Given the description of an element on the screen output the (x, y) to click on. 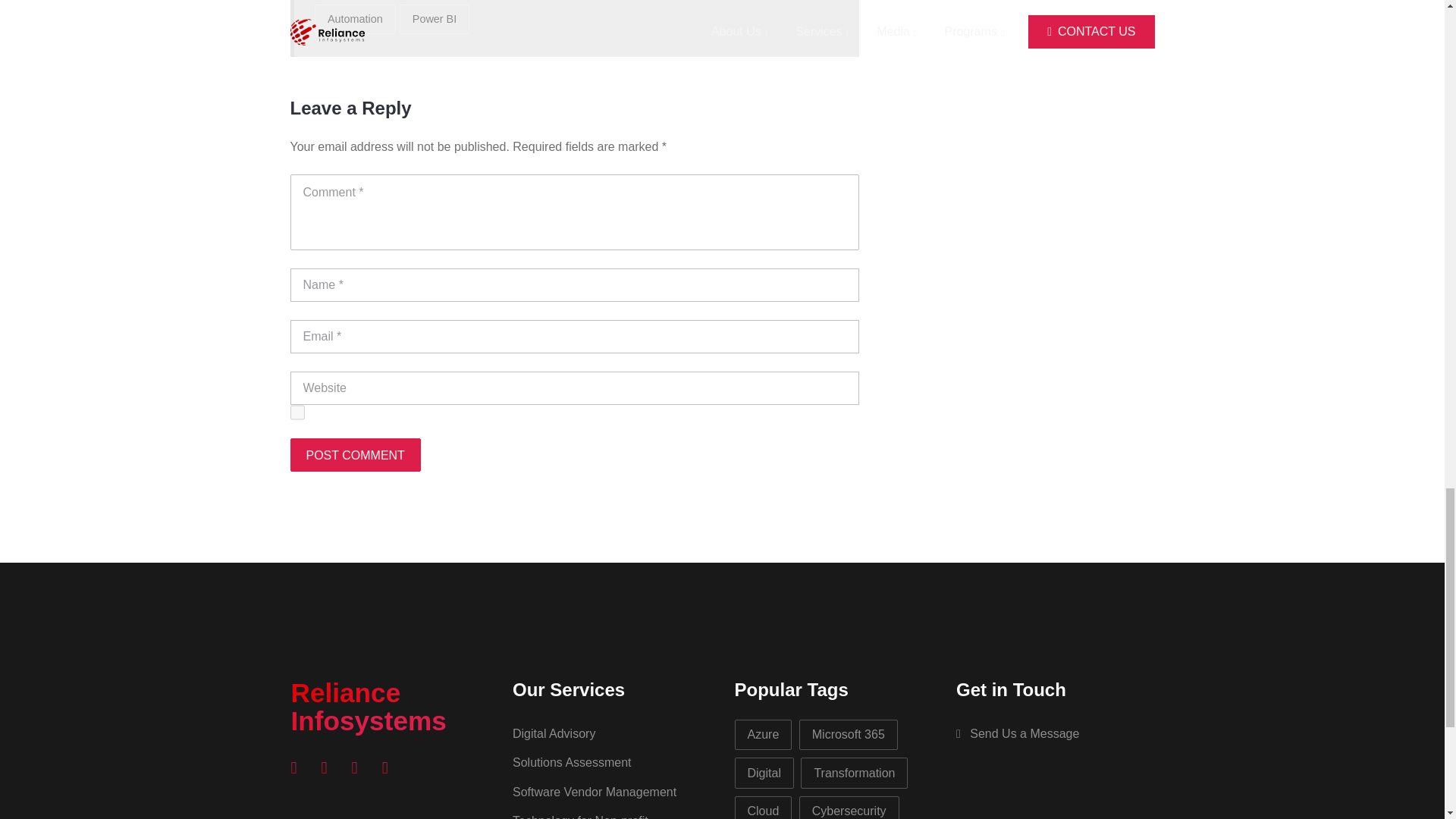
Post Comment (354, 454)
Post Comment (354, 454)
Power BI (433, 19)
Automation (355, 19)
yes (296, 412)
